Given the description of an element on the screen output the (x, y) to click on. 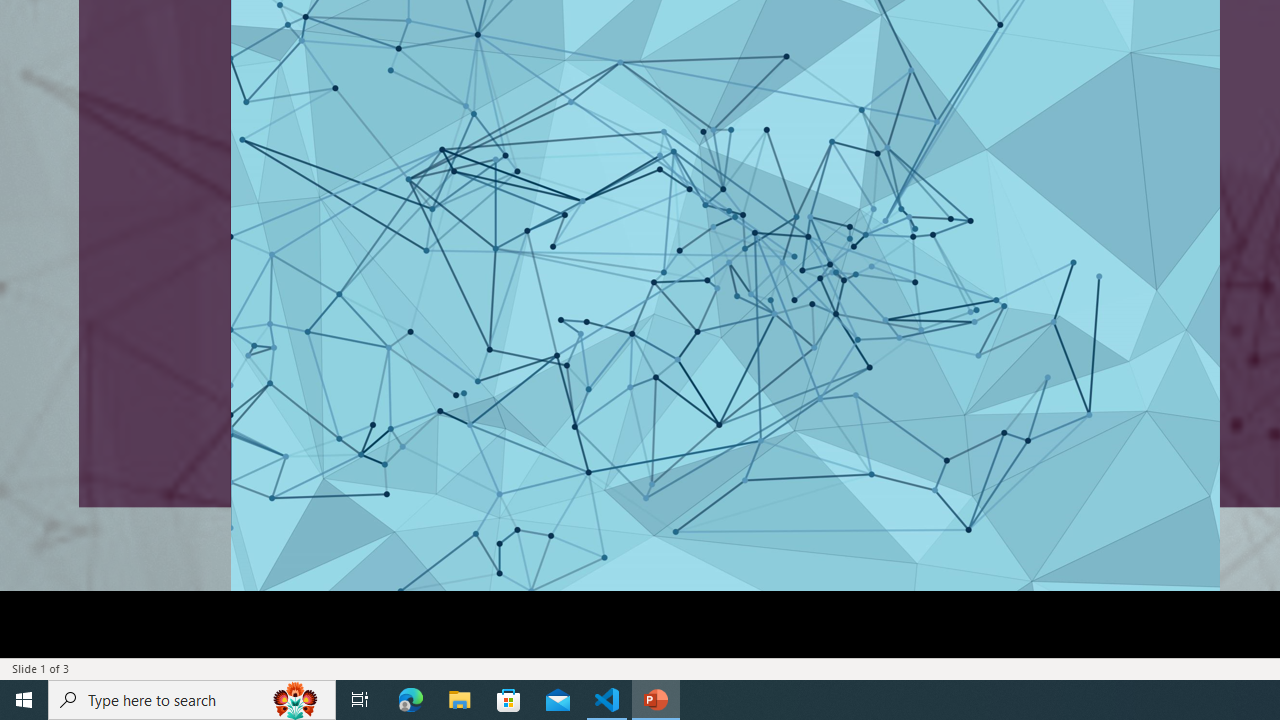
Microsoft Edge (411, 699)
